Given the description of an element on the screen output the (x, y) to click on. 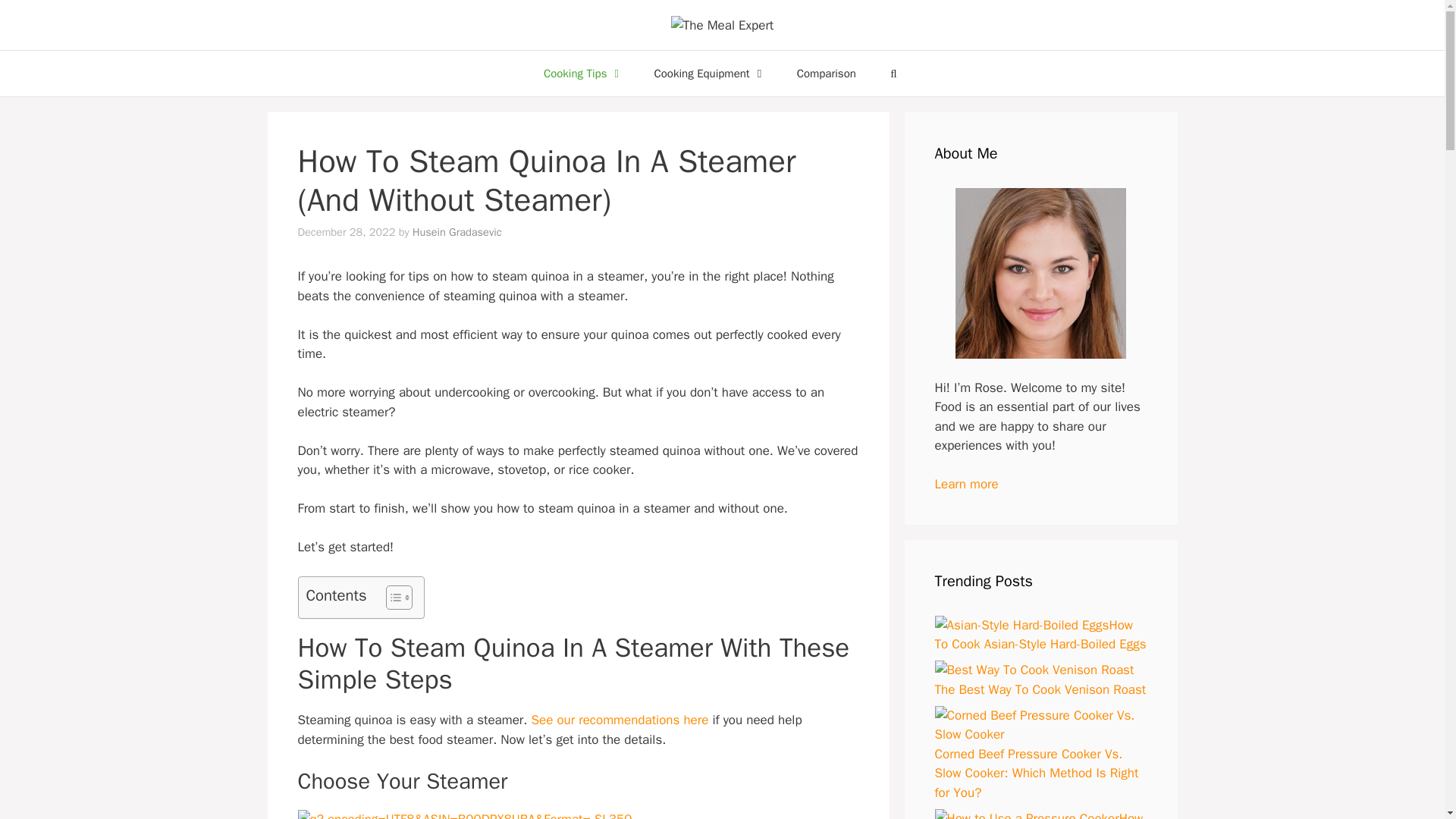
See our recommendations here (619, 719)
Husein Gradasevic (457, 232)
Comparison (825, 73)
Cooking Equipment (709, 73)
Cooking Tips (583, 73)
View all posts by Husein Gradasevic (457, 232)
